Given the description of an element on the screen output the (x, y) to click on. 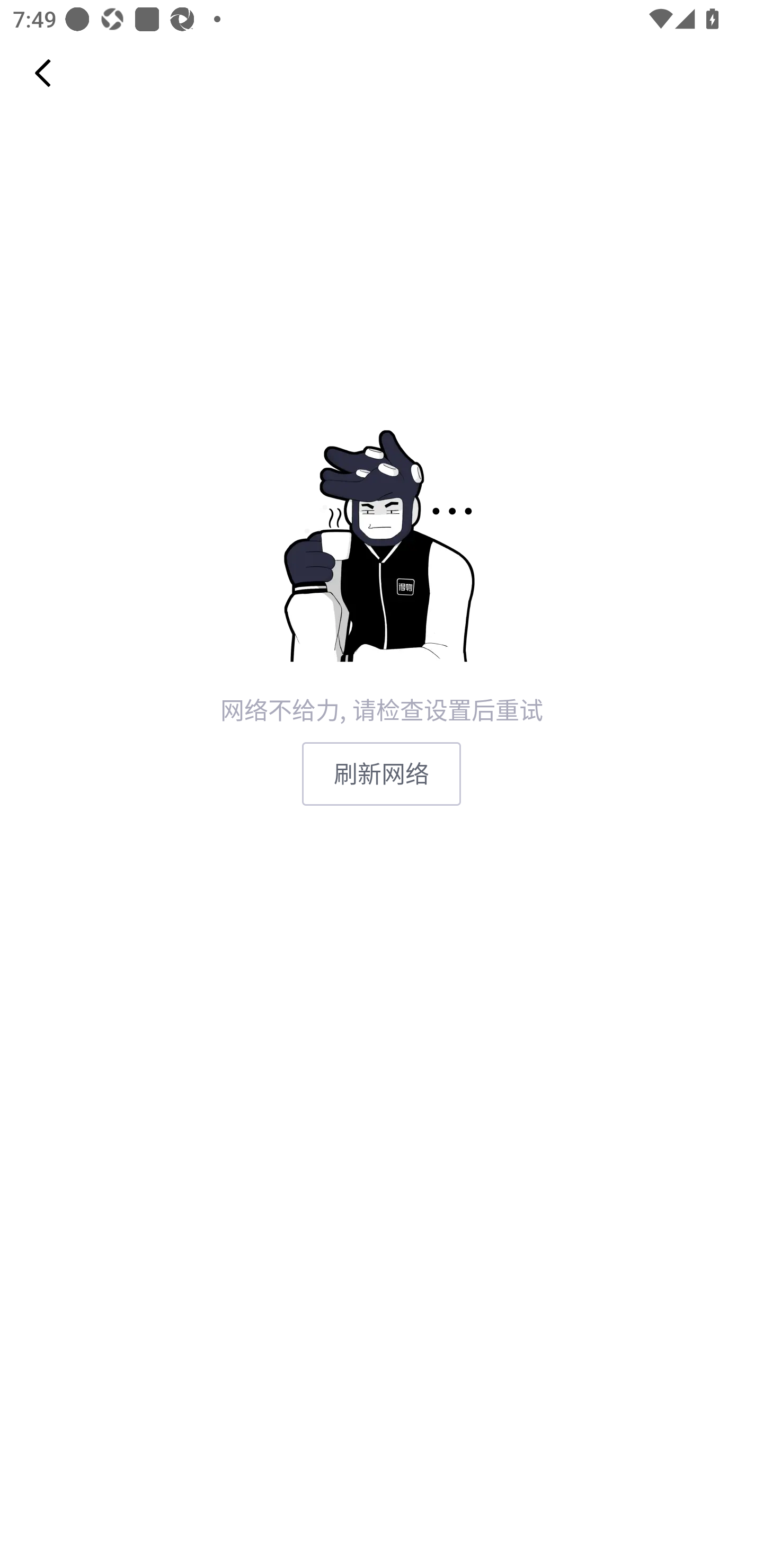
刷新网络 (381, 773)
